Given the description of an element on the screen output the (x, y) to click on. 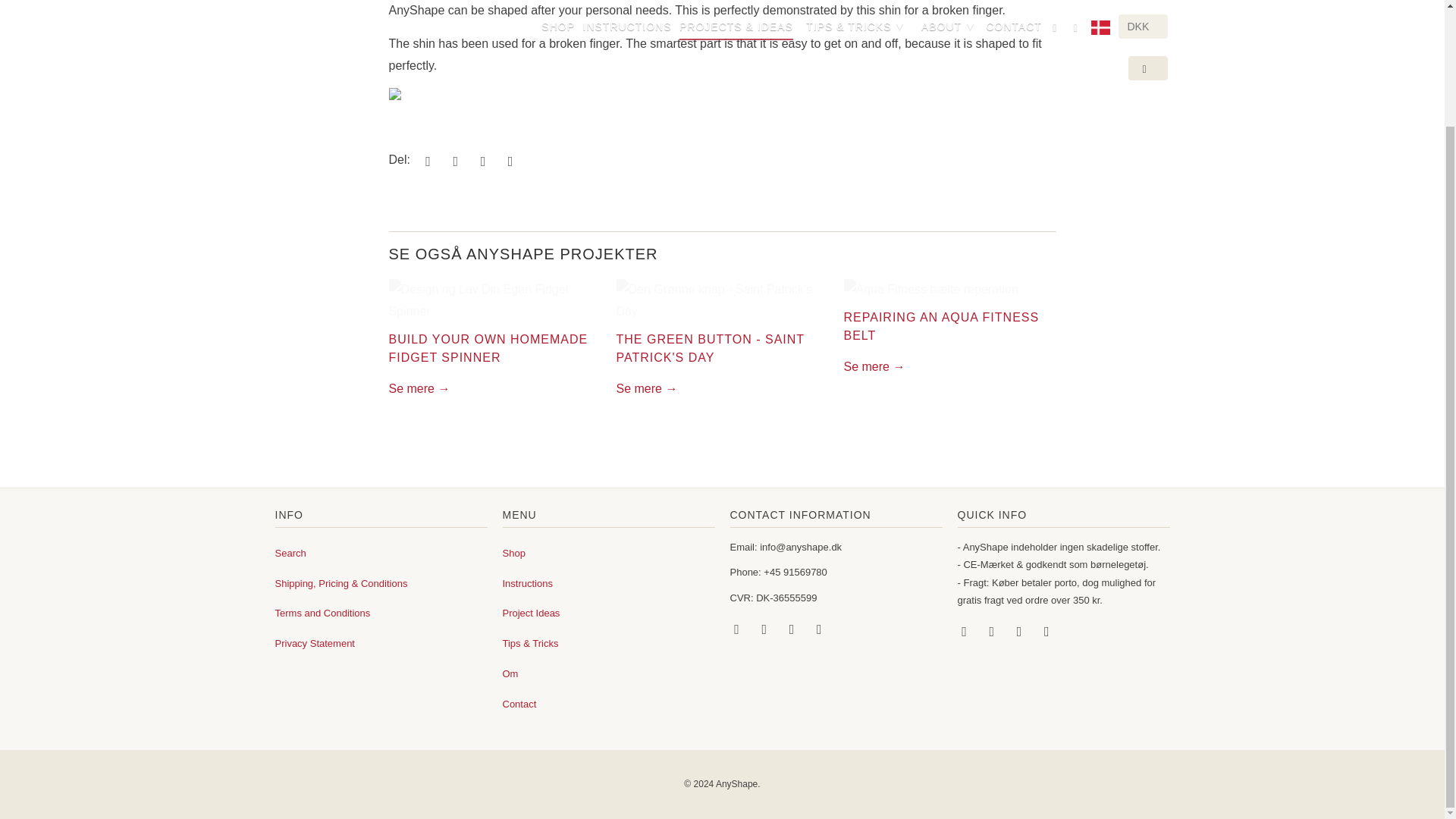
Repairing an Aqua Fitness belt (873, 366)
The Green Button - Saint Patrick's Day (709, 347)
Repairing an Aqua Fitness belt (941, 326)
Build your own homemade Fidget Spinner (488, 347)
Build your own homemade Fidget Spinner (493, 300)
The Green Button - Saint Patrick's Day (646, 388)
The Green Button - Saint Patrick's Day (721, 300)
Send en Email til en ven (507, 160)
Repairing an Aqua Fitness belt (949, 290)
Build your own homemade Fidget Spinner (418, 388)
